Given the description of an element on the screen output the (x, y) to click on. 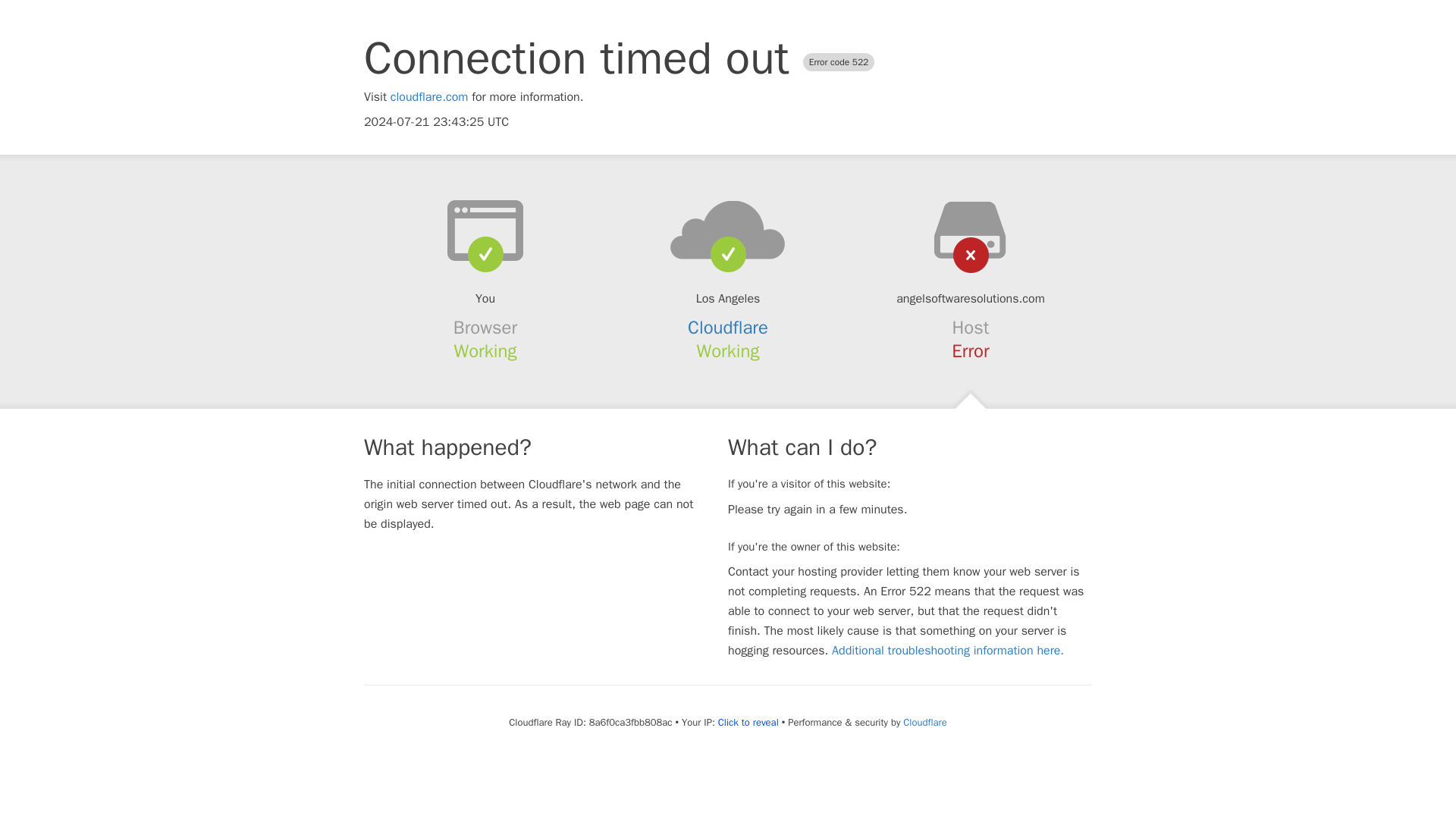
Additional troubleshooting information here. (947, 650)
cloudflare.com (429, 96)
Cloudflare (727, 327)
Cloudflare (924, 721)
Click to reveal (747, 722)
